Given the description of an element on the screen output the (x, y) to click on. 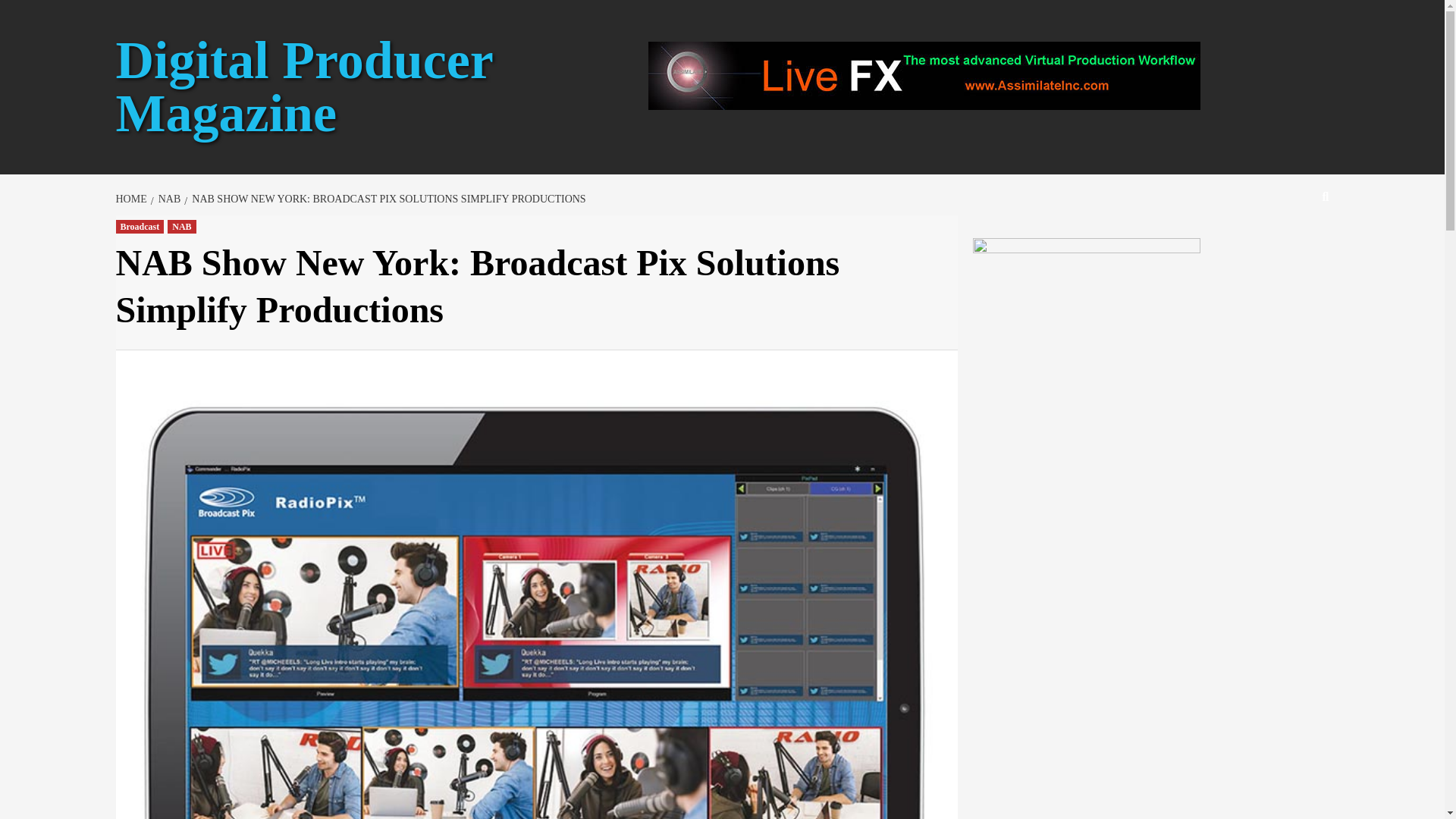
NAB (181, 226)
HOME (132, 198)
Broadcast (139, 226)
Digital Producer Magazine (303, 86)
NAB (167, 198)
